Given the description of an element on the screen output the (x, y) to click on. 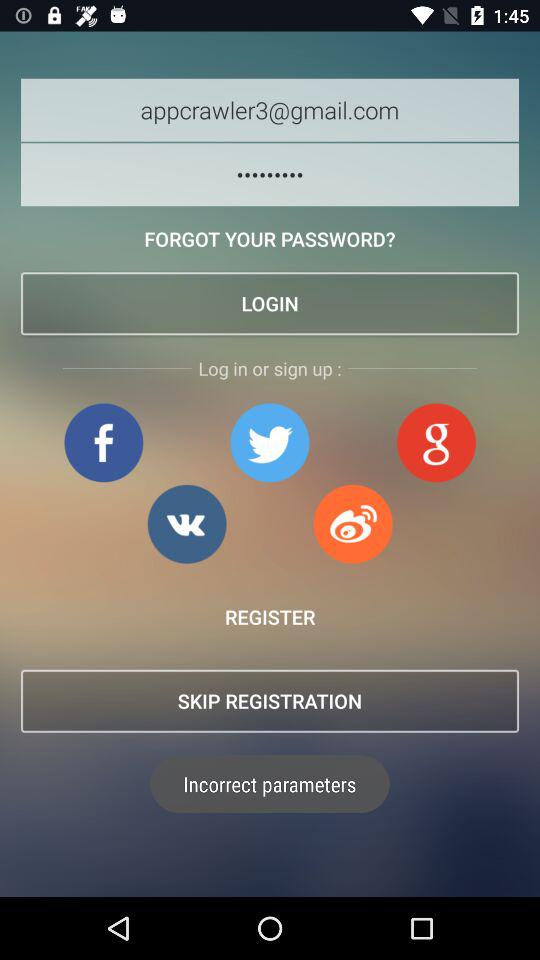
log in to social media (353, 523)
